Given the description of an element on the screen output the (x, y) to click on. 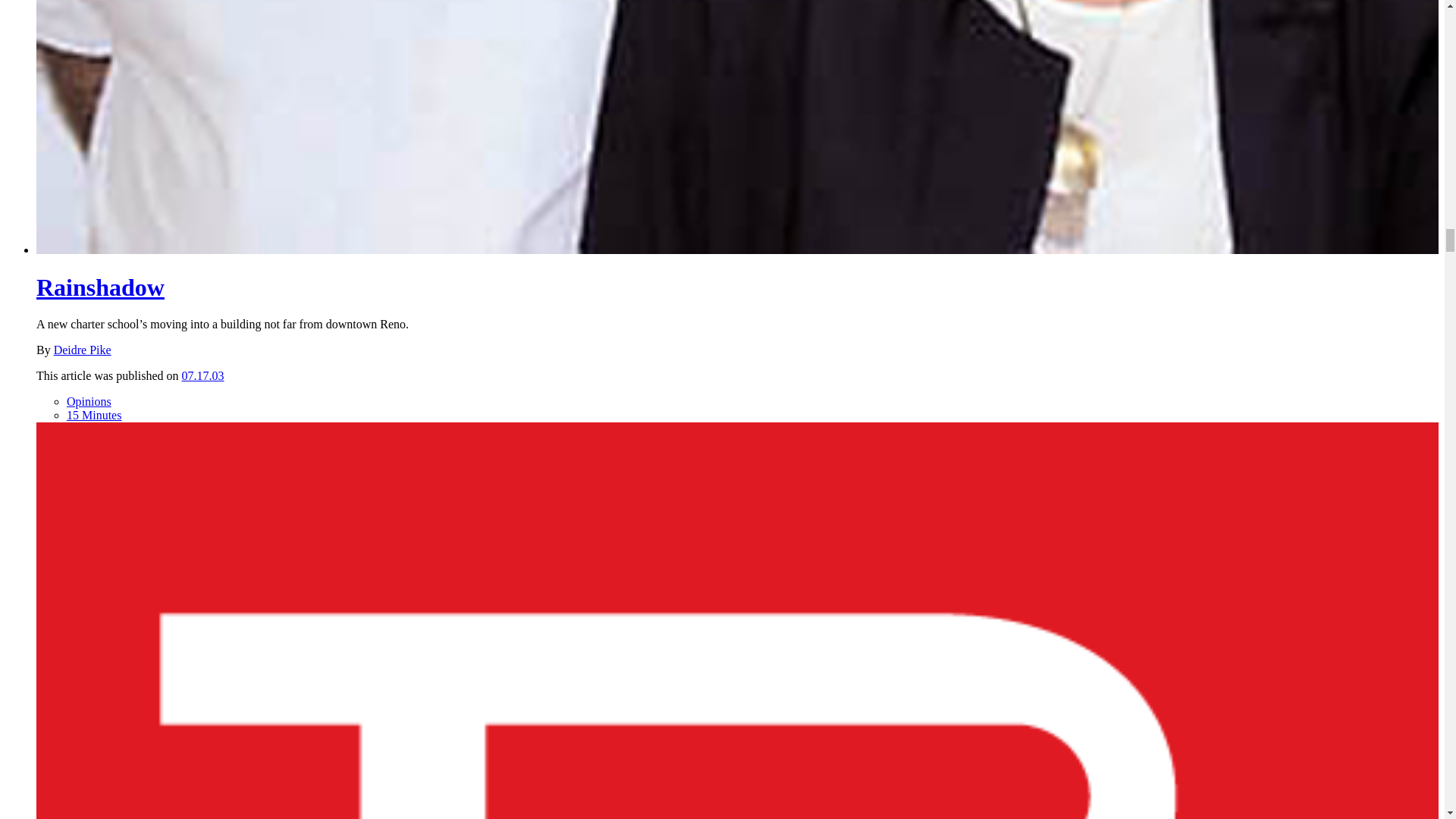
Deidre Pike (82, 349)
Rainshadow (100, 287)
07.17.03 (203, 375)
